Given the description of an element on the screen output the (x, y) to click on. 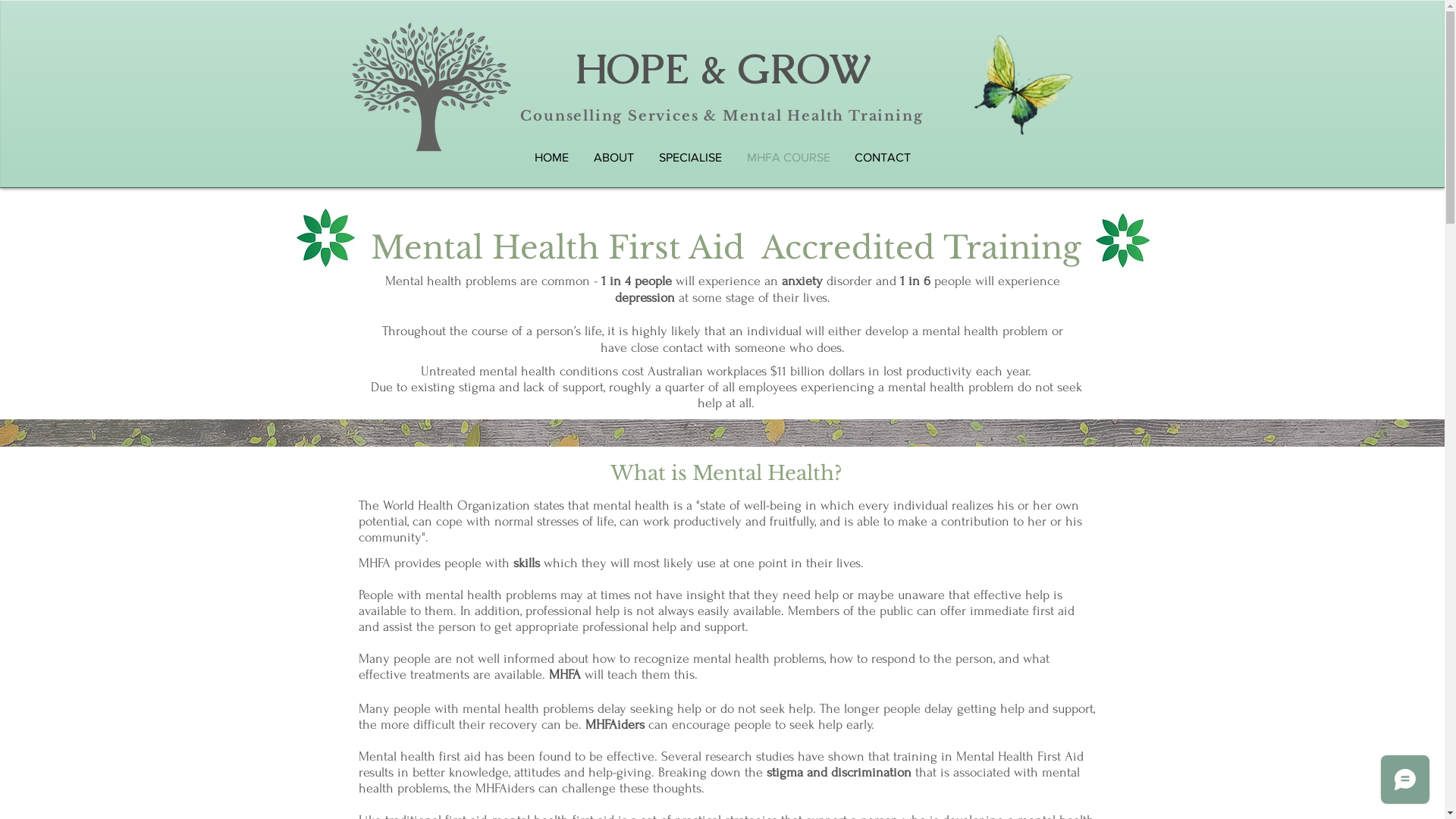
CONTACT Element type: text (881, 157)
SPECIALISE Element type: text (690, 157)
MHFA COURSE Element type: text (787, 157)
ABOUT Element type: text (613, 157)
HOME Element type: text (550, 157)
